Given the description of an element on the screen output the (x, y) to click on. 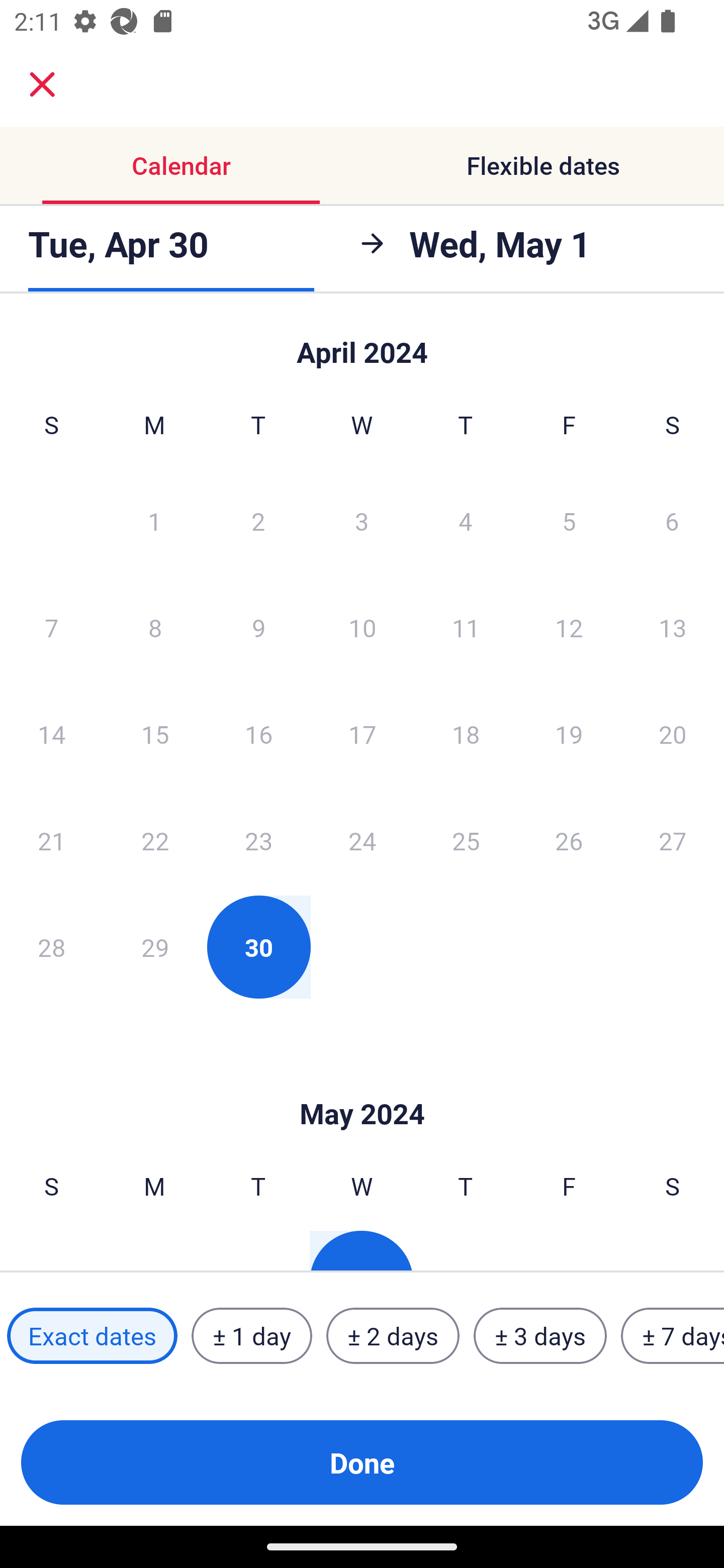
close. (42, 84)
Flexible dates (542, 164)
Skip to Done (362, 343)
1 Monday, April 1, 2024 (154, 520)
2 Tuesday, April 2, 2024 (257, 520)
3 Wednesday, April 3, 2024 (361, 520)
4 Thursday, April 4, 2024 (465, 520)
5 Friday, April 5, 2024 (568, 520)
6 Saturday, April 6, 2024 (672, 520)
7 Sunday, April 7, 2024 (51, 626)
8 Monday, April 8, 2024 (155, 626)
9 Tuesday, April 9, 2024 (258, 626)
10 Wednesday, April 10, 2024 (362, 626)
11 Thursday, April 11, 2024 (465, 626)
12 Friday, April 12, 2024 (569, 626)
13 Saturday, April 13, 2024 (672, 626)
14 Sunday, April 14, 2024 (51, 733)
15 Monday, April 15, 2024 (155, 733)
16 Tuesday, April 16, 2024 (258, 733)
17 Wednesday, April 17, 2024 (362, 733)
18 Thursday, April 18, 2024 (465, 733)
19 Friday, April 19, 2024 (569, 733)
20 Saturday, April 20, 2024 (672, 733)
21 Sunday, April 21, 2024 (51, 840)
22 Monday, April 22, 2024 (155, 840)
23 Tuesday, April 23, 2024 (258, 840)
24 Wednesday, April 24, 2024 (362, 840)
25 Thursday, April 25, 2024 (465, 840)
26 Friday, April 26, 2024 (569, 840)
27 Saturday, April 27, 2024 (672, 840)
28 Sunday, April 28, 2024 (51, 946)
29 Monday, April 29, 2024 (155, 946)
Skip to Done (362, 1083)
Exact dates (92, 1335)
± 1 day (251, 1335)
± 2 days (392, 1335)
± 3 days (539, 1335)
± 7 days (672, 1335)
Done (361, 1462)
